Given the description of an element on the screen output the (x, y) to click on. 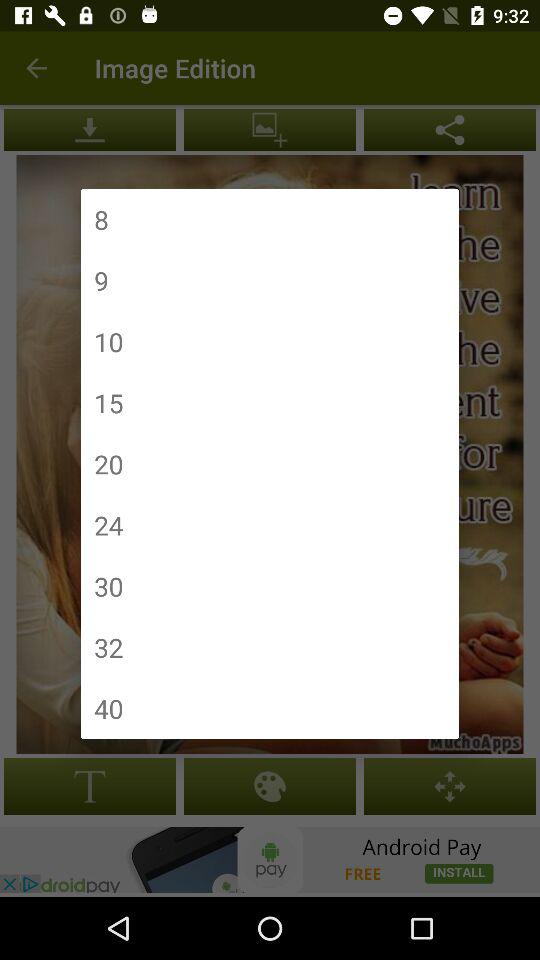
launch item above the 20 item (108, 402)
